Given the description of an element on the screen output the (x, y) to click on. 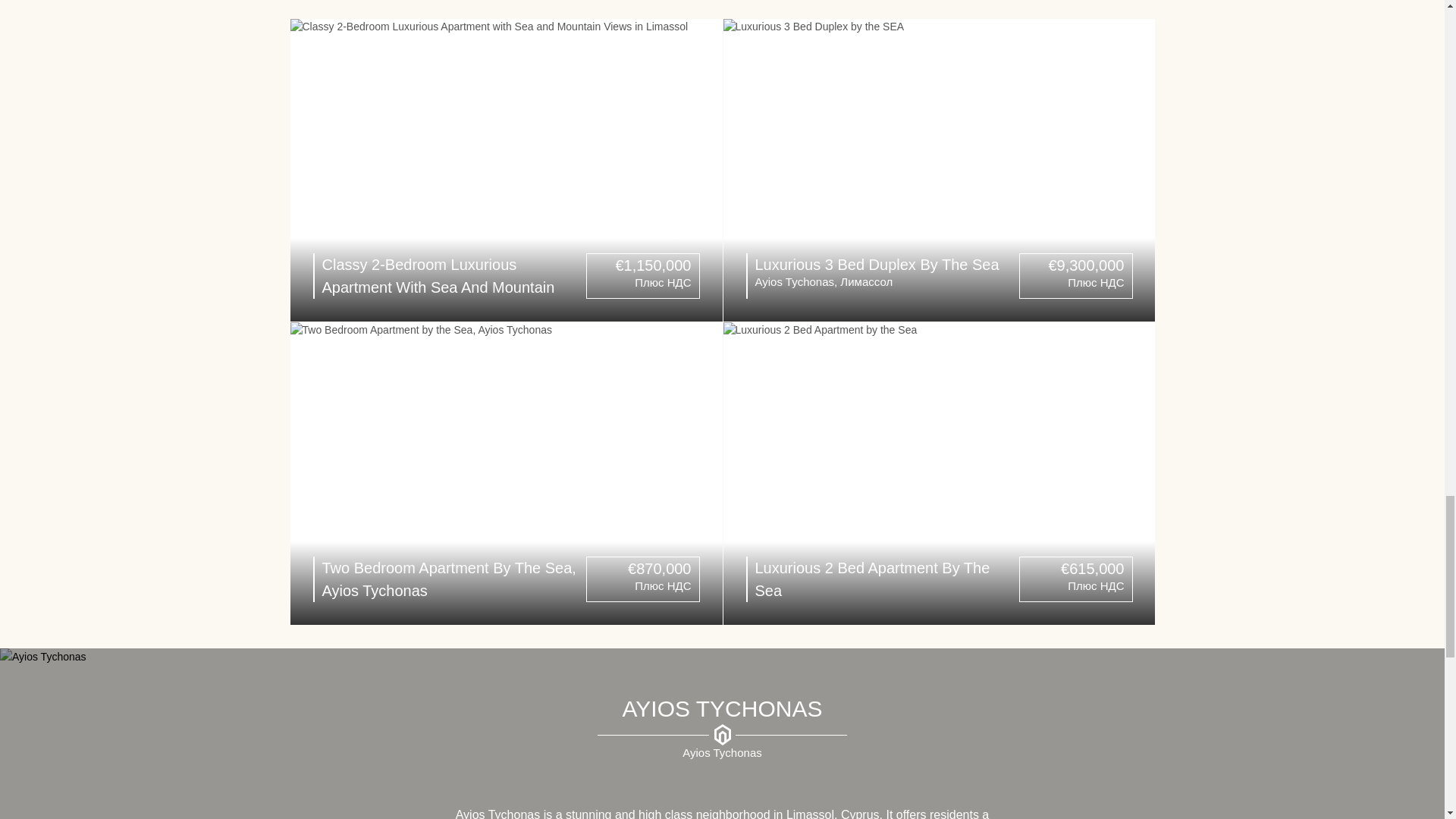
Luxurious 2 Bed Apartment by the Sea (939, 473)
Two Bedroom Apartment by the Sea, Ayios Tychonas (505, 473)
Luxurious 3 Bed Duplex by the SEA (939, 169)
